Given the description of an element on the screen output the (x, y) to click on. 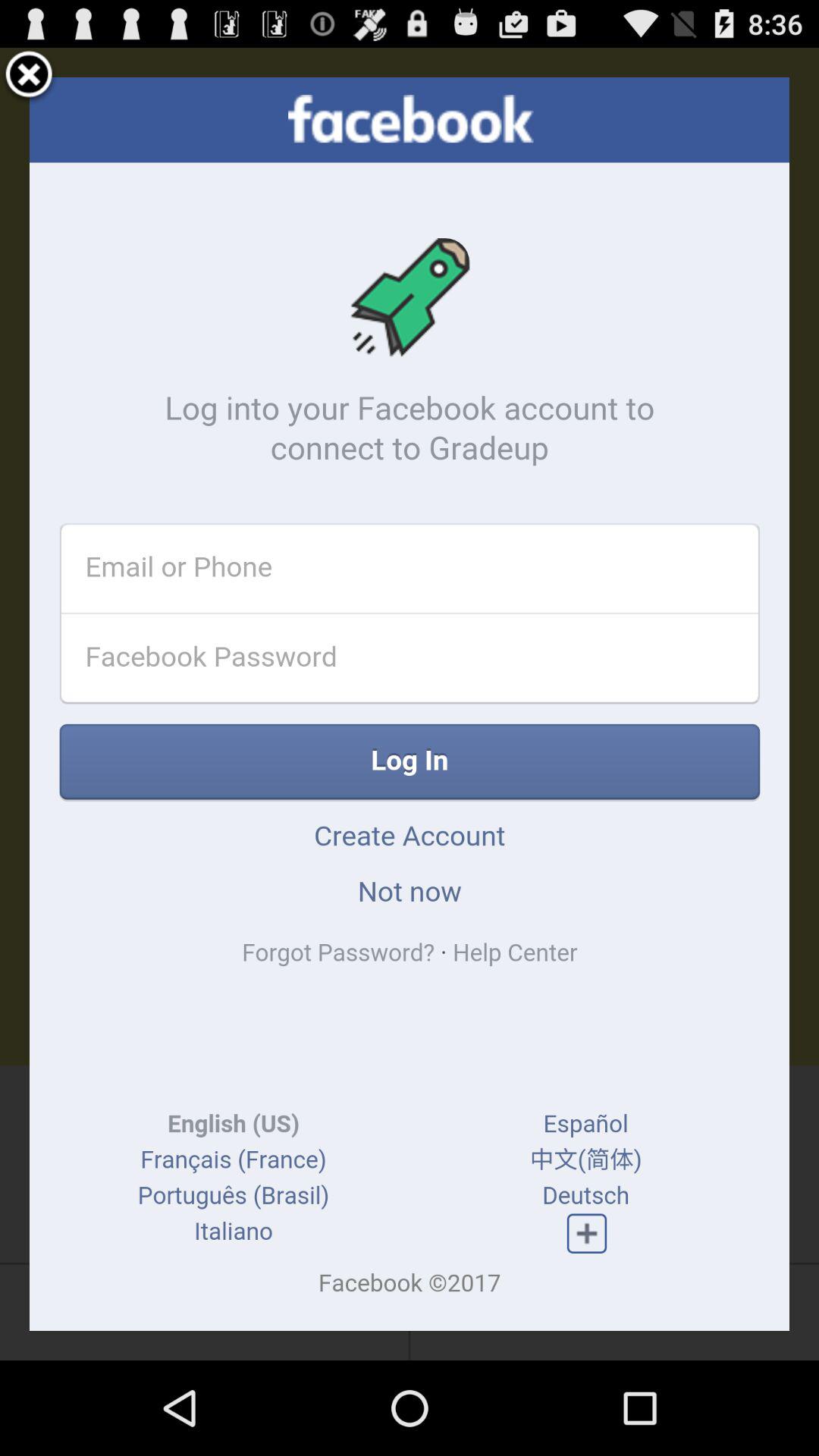
close (29, 76)
